Given the description of an element on the screen output the (x, y) to click on. 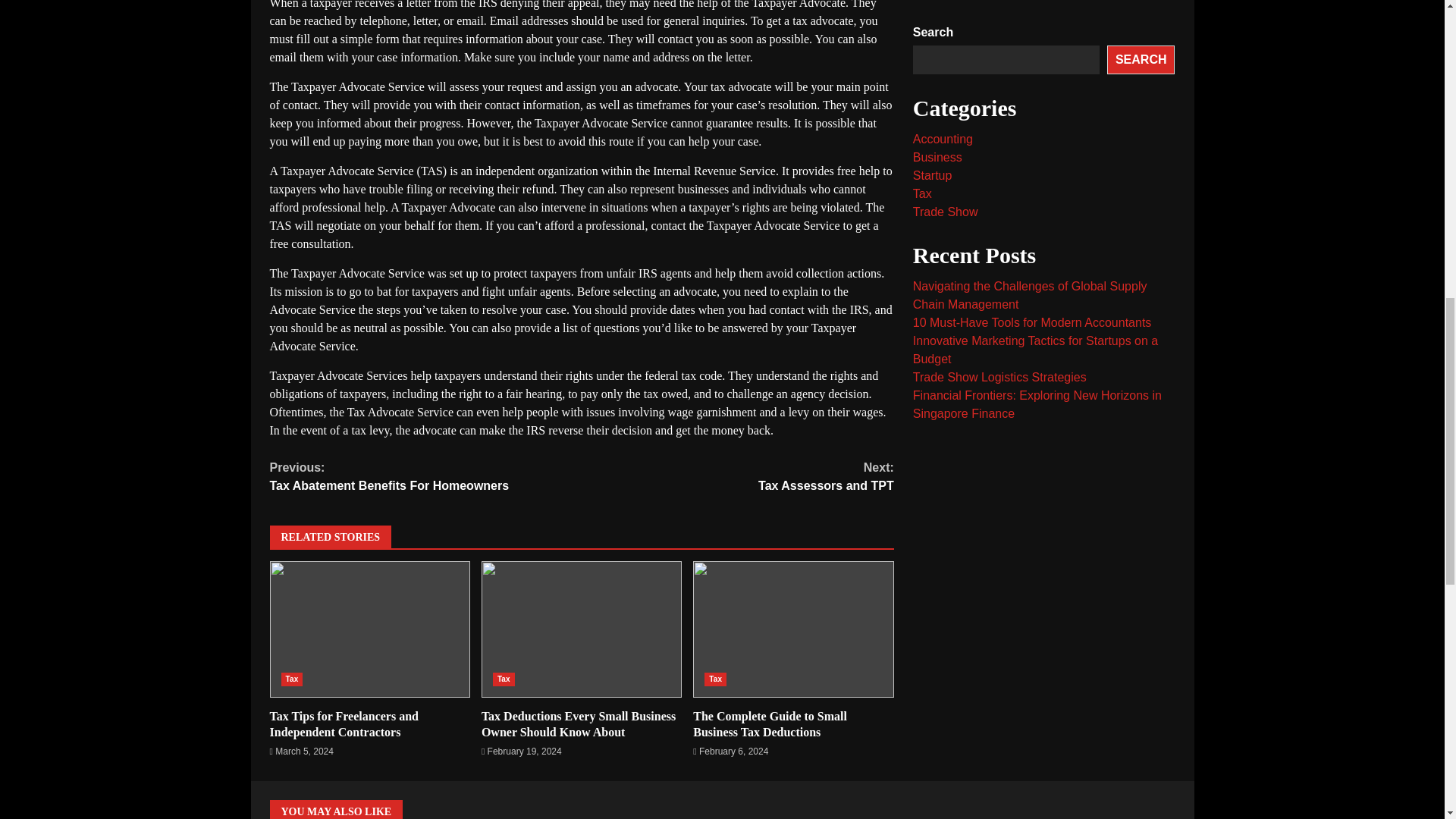
The Complete Guide to Small Business Tax Deductions (770, 724)
Tax (715, 679)
Tax Tips for Freelancers and Independent Contractors (369, 629)
Tax (425, 476)
The Complete Guide to Small Business Tax Deductions (291, 679)
Tax Deductions Every Small Business Owner Should Know About (793, 629)
Tax Tips for Freelancers and Independent Contractors (581, 629)
Tax Deductions Every Small Business Owner Should Know About (344, 724)
